Given the description of an element on the screen output the (x, y) to click on. 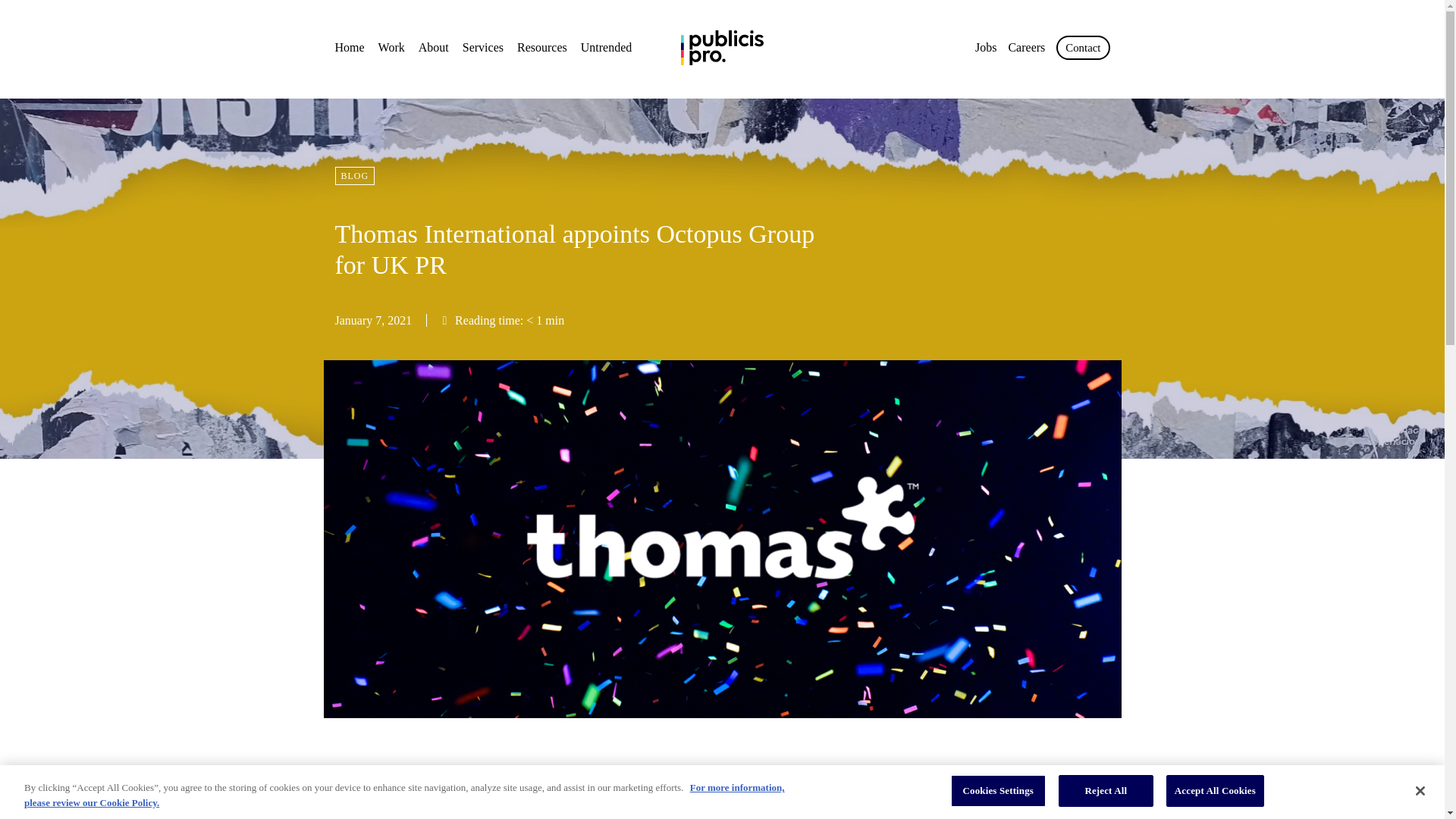
Reject All (1105, 790)
Accept All Cookies (1214, 790)
Careers (1026, 47)
About (433, 47)
Contact (1083, 47)
Work (391, 47)
BLOG (354, 176)
Home (349, 47)
Jobs (985, 47)
Untrended (605, 47)
Services (483, 47)
Resources (541, 47)
Cookies Settings (997, 790)
For more information, please review our Cookie Policy. (404, 795)
